Given the description of an element on the screen output the (x, y) to click on. 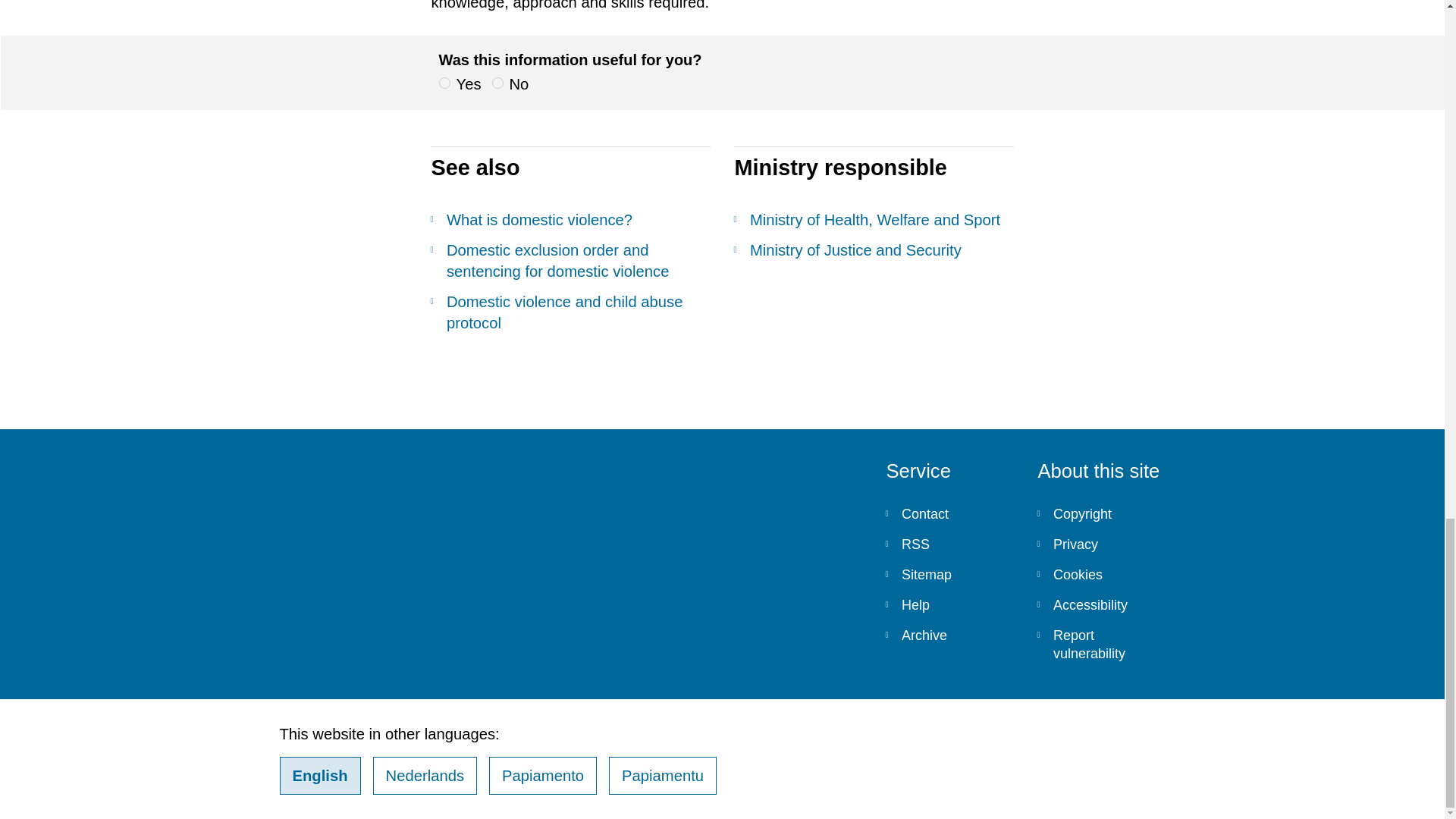
Contact (949, 513)
What is domestic violence? (570, 219)
ja (443, 82)
RSS (949, 544)
Cookies (1100, 574)
Archive (949, 634)
Papiamento (542, 775)
nee (497, 82)
Ministry of Health, Welfare and Sport (873, 219)
Ministry of Justice and Security (873, 250)
Sitemap (949, 574)
Copyright (1100, 513)
Help (949, 604)
Nederlands (424, 775)
